Given the description of an element on the screen output the (x, y) to click on. 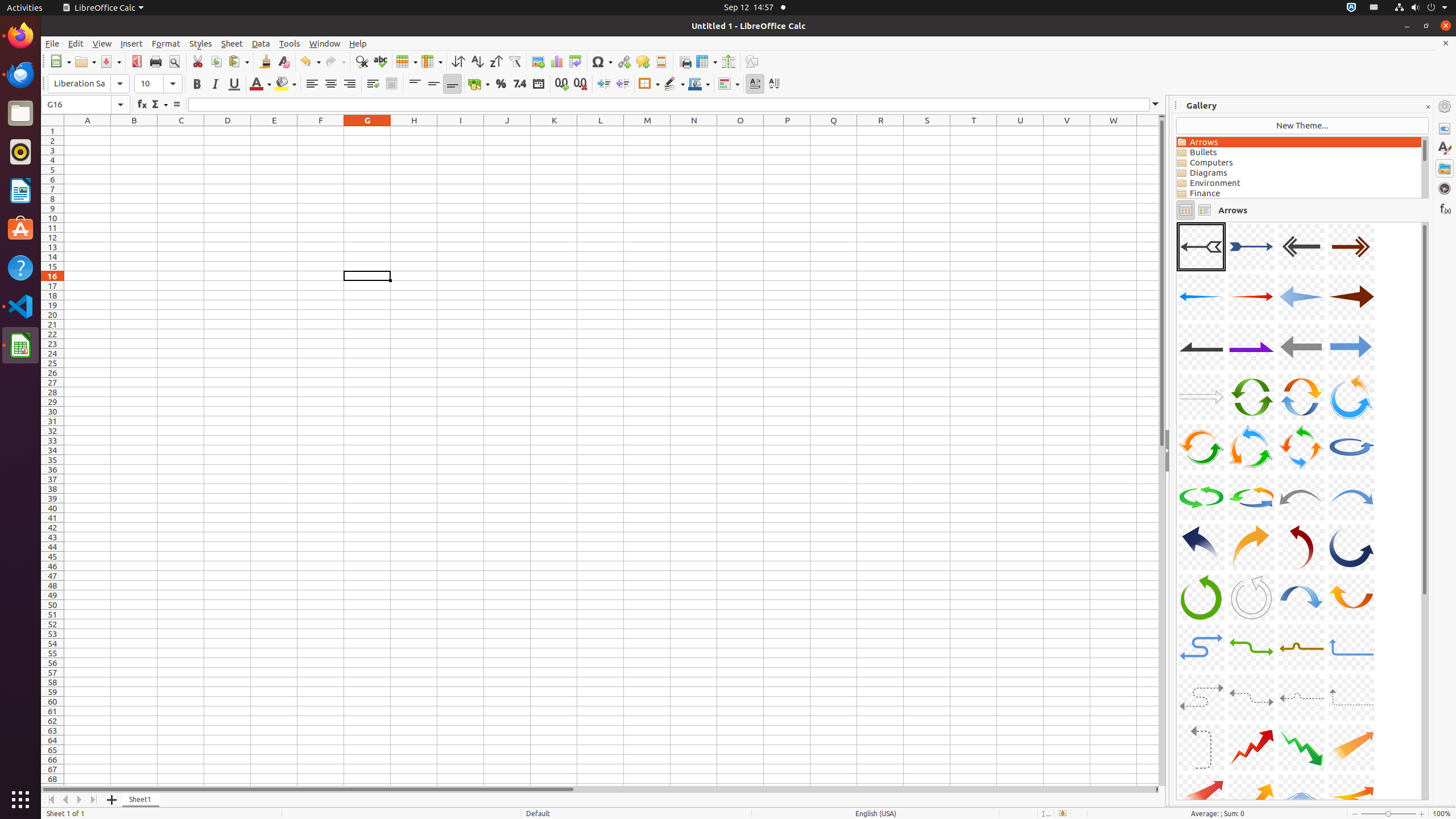
Horizontal scroll bar Element type: scroll-bar (597, 789)
Visual Studio Code Element type: push-button (20, 306)
Move To Home Element type: push-button (51, 799)
A03-Arrow-Gray-Left Element type: list-item (1300, 246)
Rhythmbox Element type: push-button (20, 151)
